Given the description of an element on the screen output the (x, y) to click on. 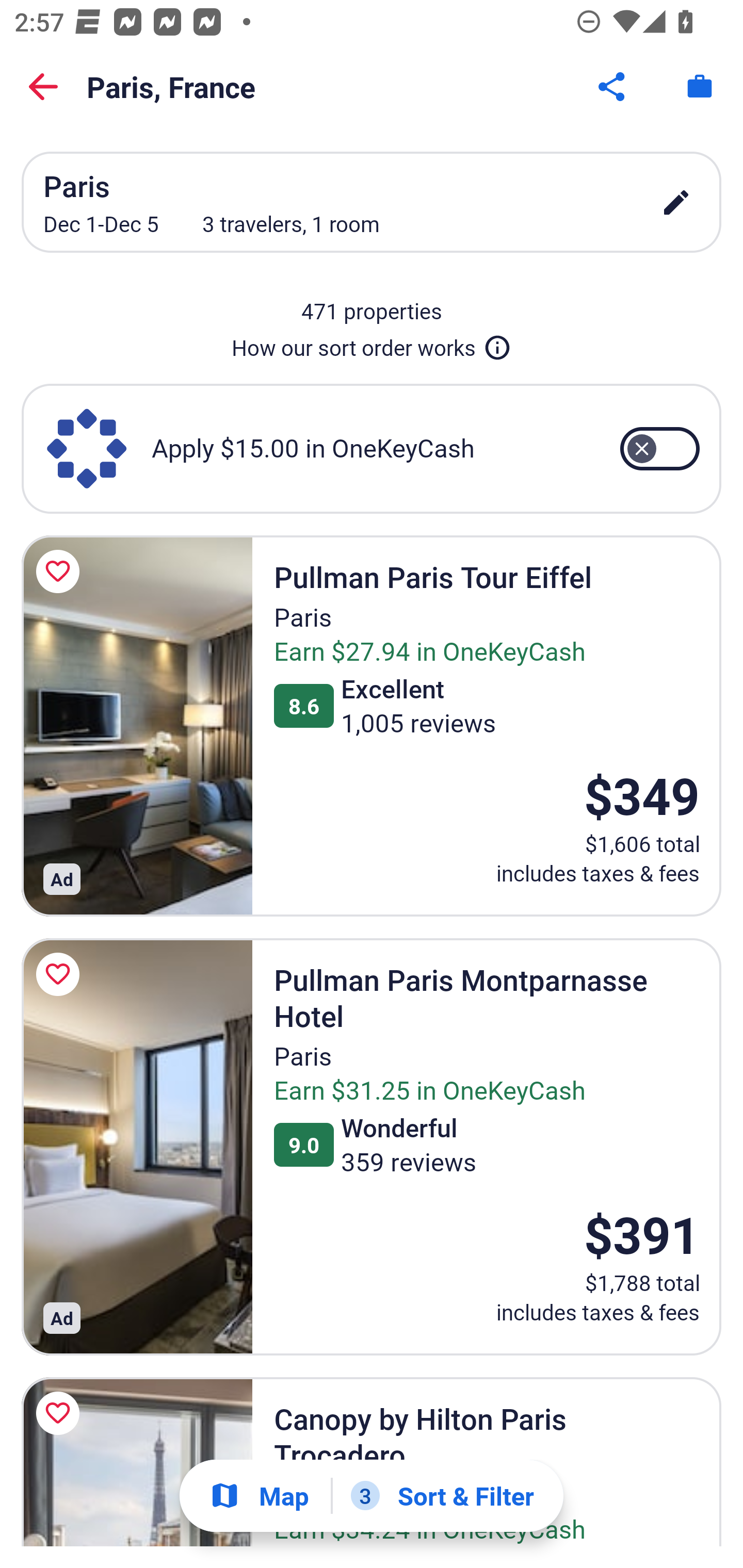
Back (43, 86)
Share Button (612, 86)
Trips. Button (699, 86)
Paris Dec 1-Dec 5 3 travelers, 1 room edit (371, 202)
How our sort order works (371, 344)
Save Pullman Paris Tour Eiffel to a trip (61, 571)
Pullman Paris Tour Eiffel (136, 725)
Save Pullman Paris Montparnasse Hotel to a trip (61, 974)
Pullman Paris Montparnasse Hotel (136, 1145)
Save Canopy by Hilton Paris Trocadero to a trip (61, 1413)
3 Sort & Filter 3 Filters applied. Filters Button (442, 1495)
Show map Map Show map Button (258, 1495)
